Given the description of an element on the screen output the (x, y) to click on. 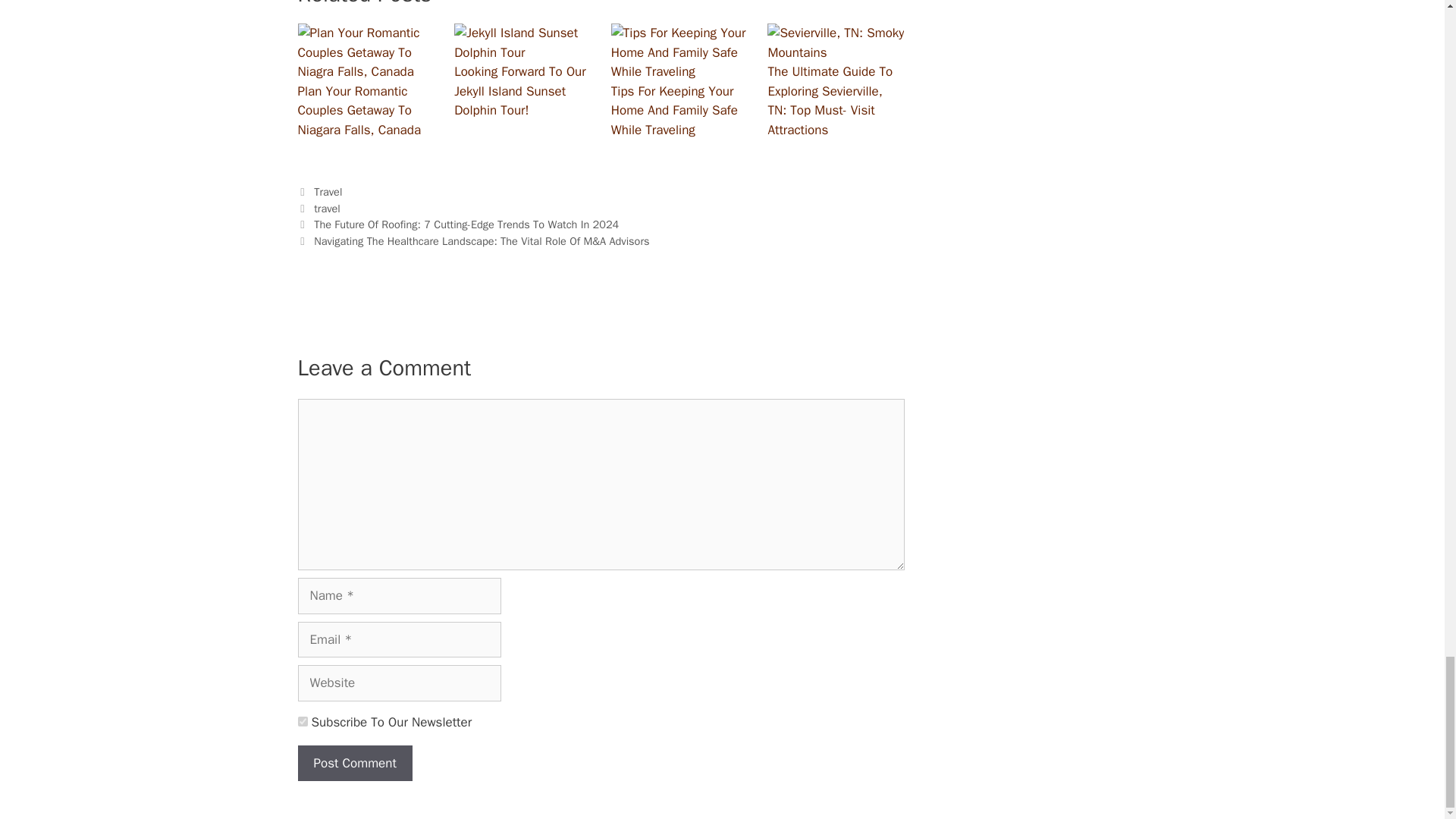
Post Comment (354, 763)
1 (302, 721)
